Given the description of an element on the screen output the (x, y) to click on. 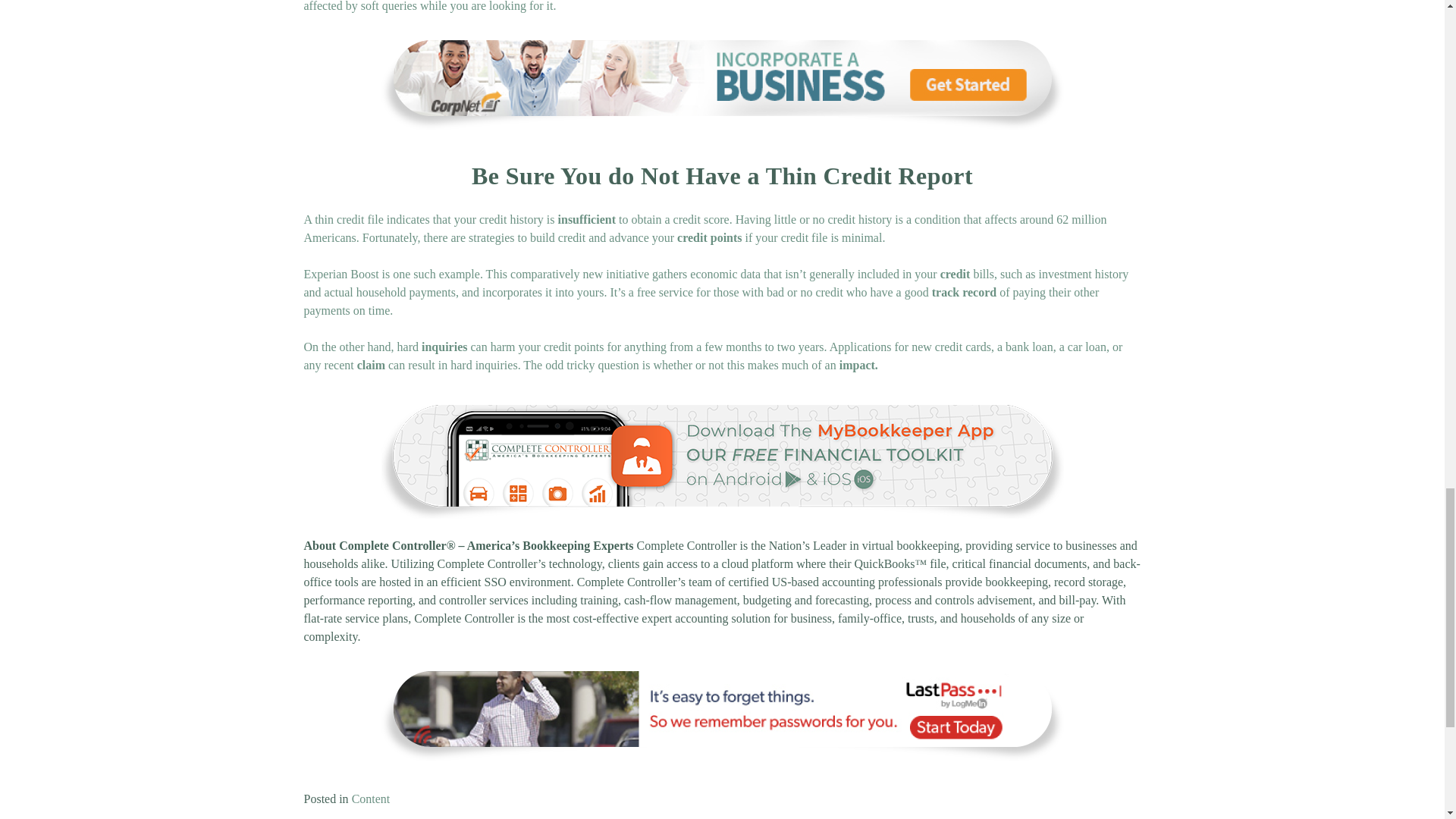
Content (371, 798)
